Given the description of an element on the screen output the (x, y) to click on. 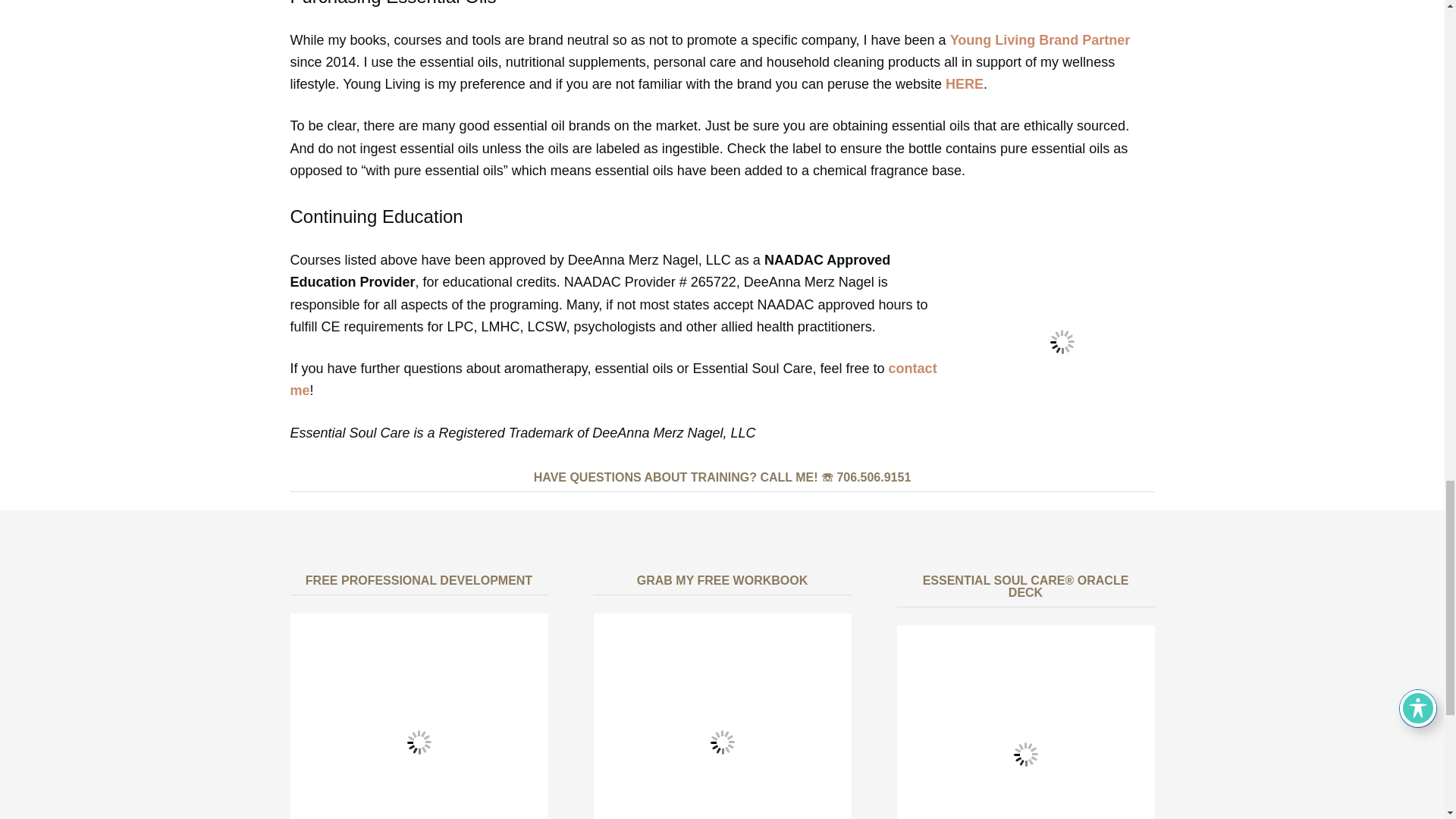
Young Living Brand Partner (1040, 38)
HERE (964, 83)
contact me (612, 379)
